Given the description of an element on the screen output the (x, y) to click on. 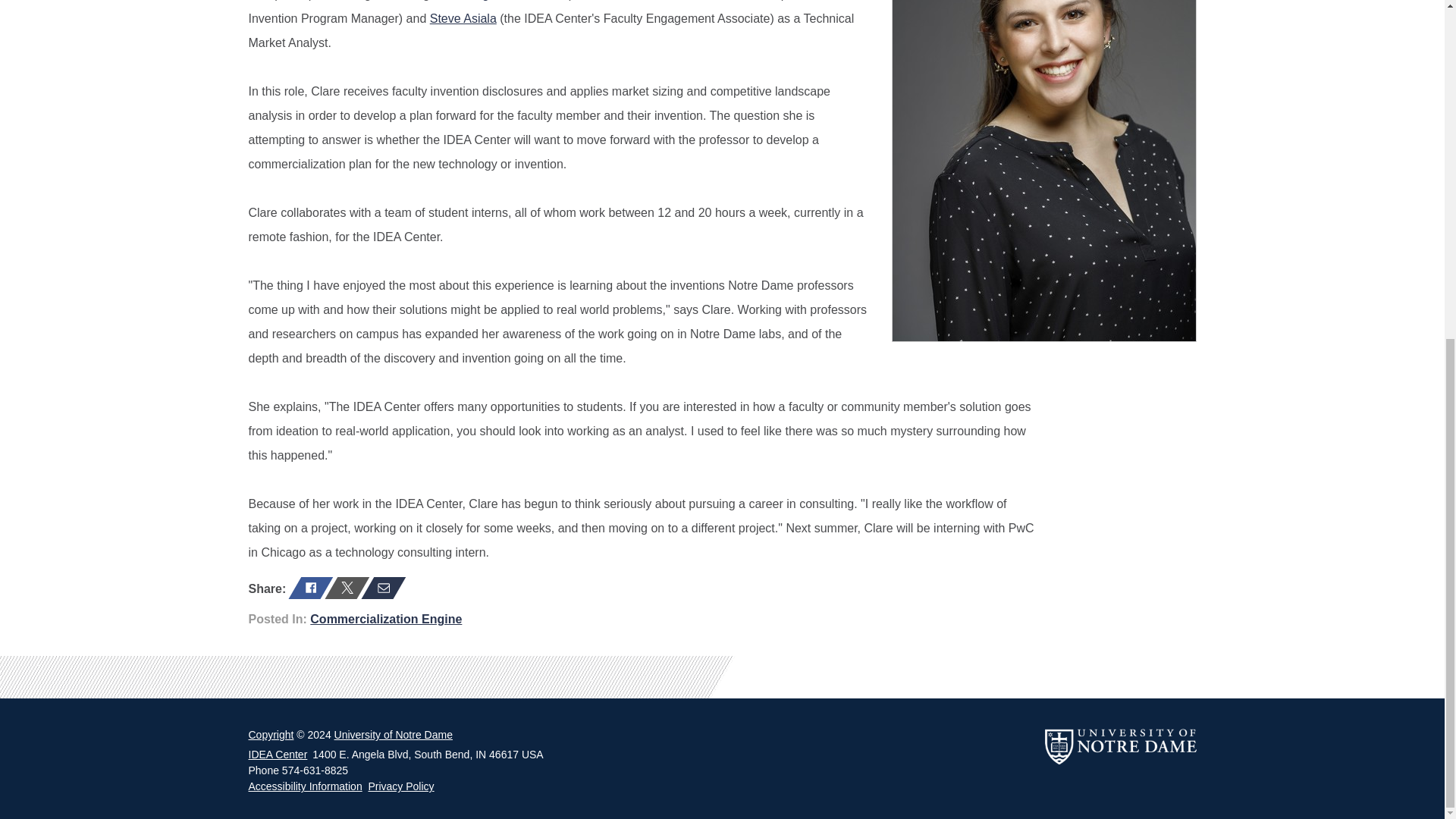
Commercialization Engine (385, 618)
Steve Asiala (462, 18)
Email (377, 587)
Facebook (304, 587)
